Given the description of an element on the screen output the (x, y) to click on. 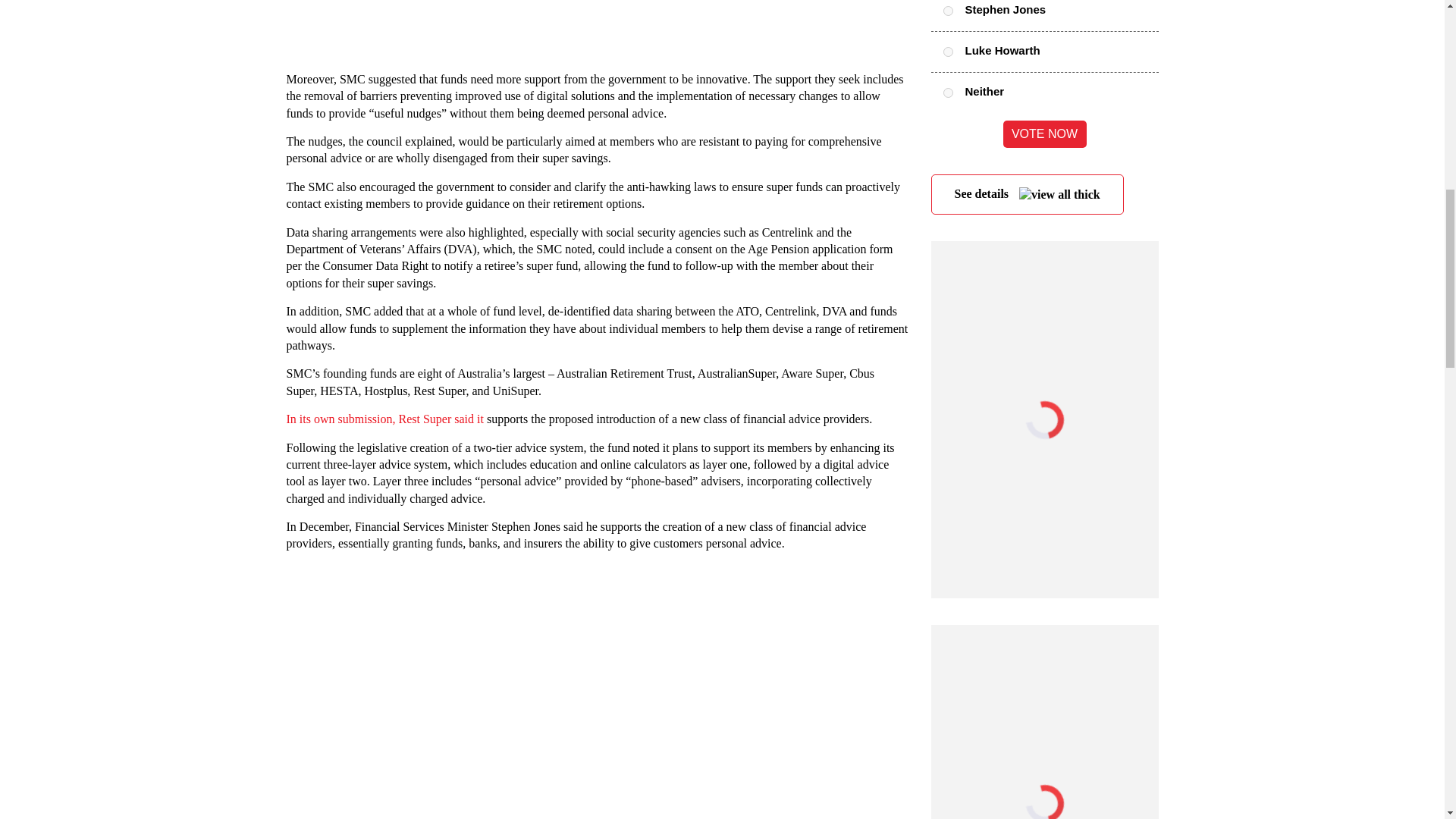
0 (948, 10)
1 (948, 51)
2 (948, 92)
